Given the description of an element on the screen output the (x, y) to click on. 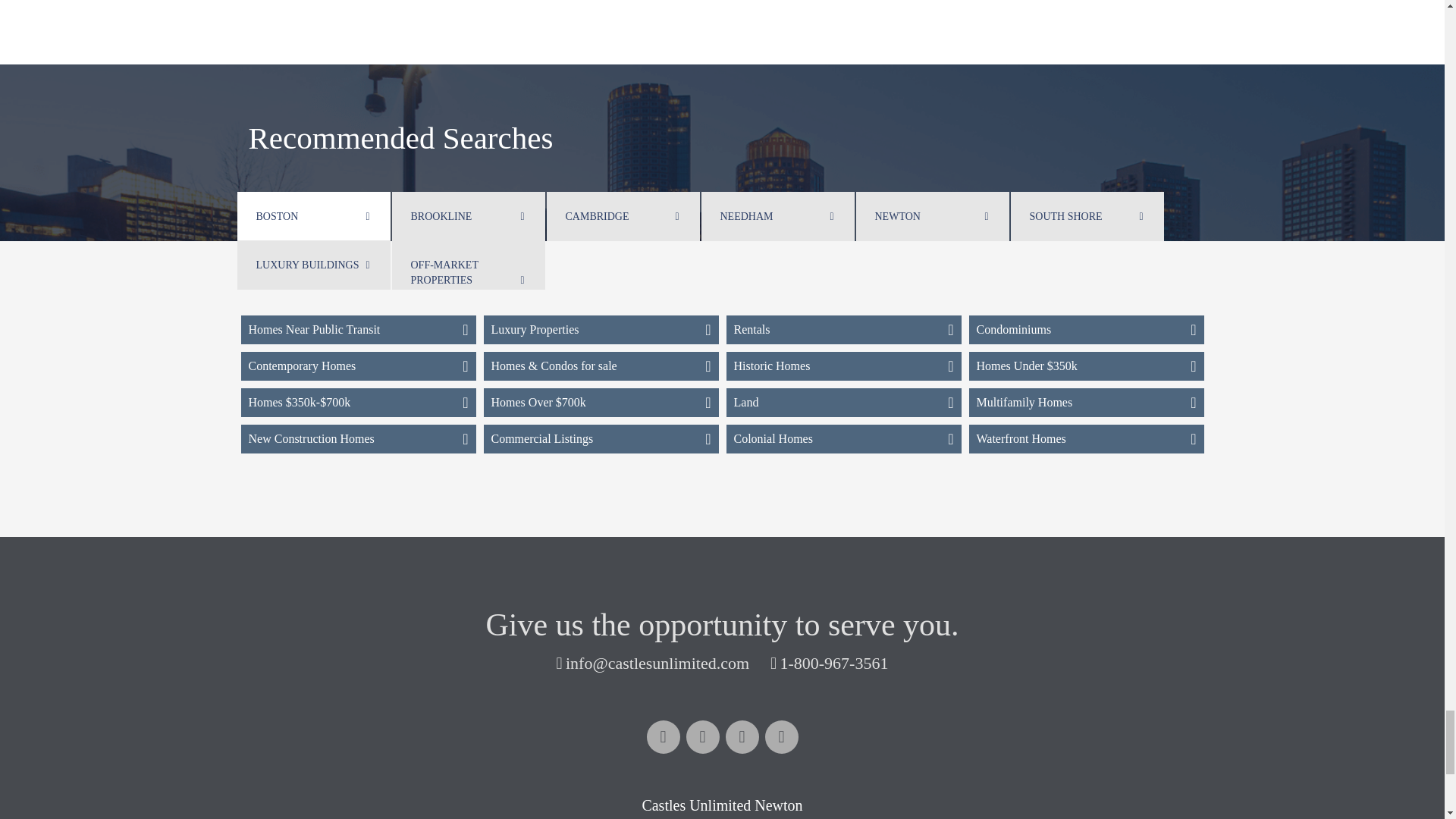
Boston MA Historic Homes (843, 366)
Boston MA Contemporary Homes (358, 366)
Boston MA Rentals (843, 329)
Boston MA Land for Sale (843, 402)
Boston MA Condos for Sale (1086, 329)
Boston MA Homes Near Public Transit (358, 329)
Boston Luxury Real Estate Listings (601, 329)
